Given the description of an element on the screen output the (x, y) to click on. 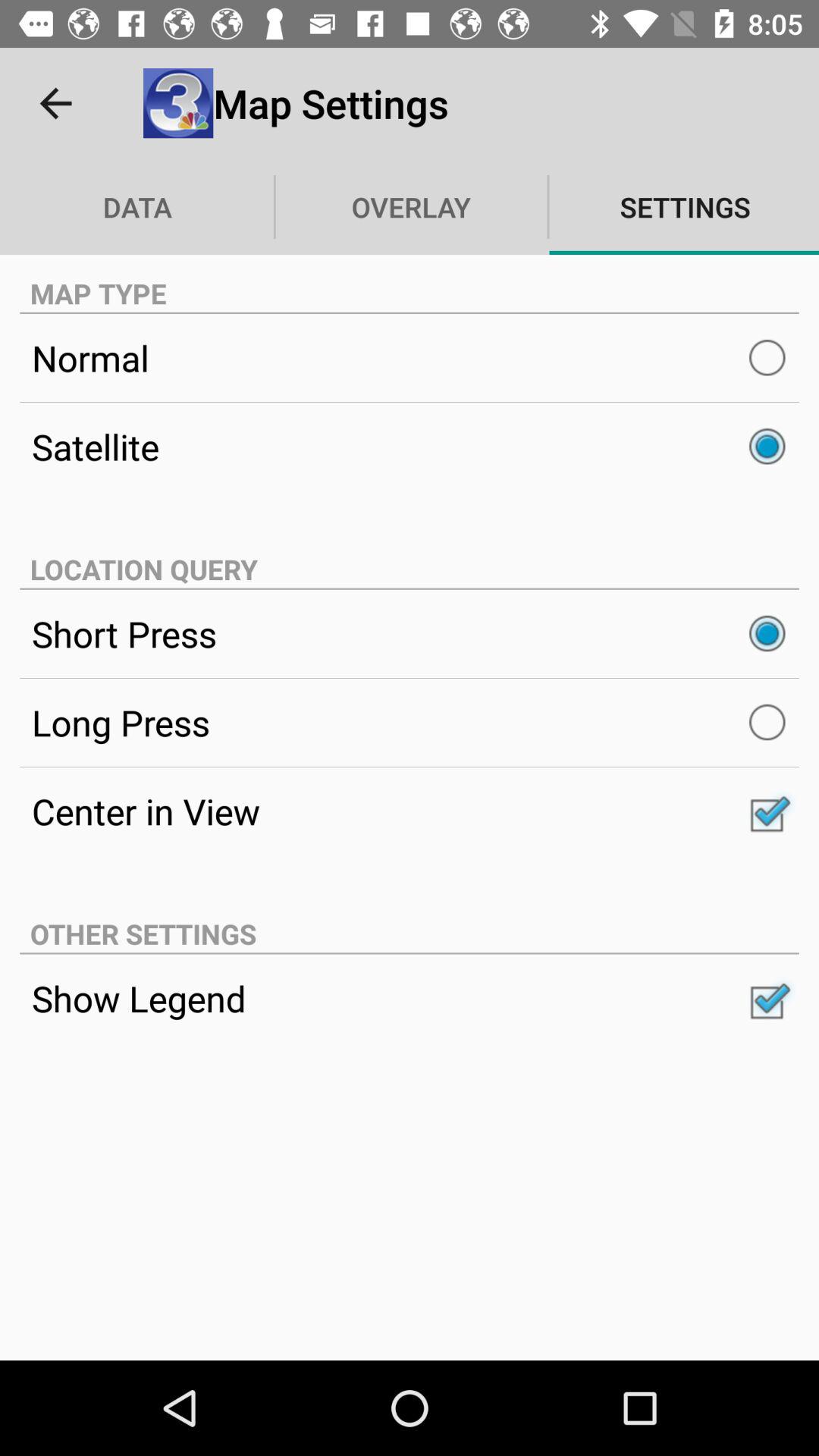
click item above the other settings item (409, 811)
